Given the description of an element on the screen output the (x, y) to click on. 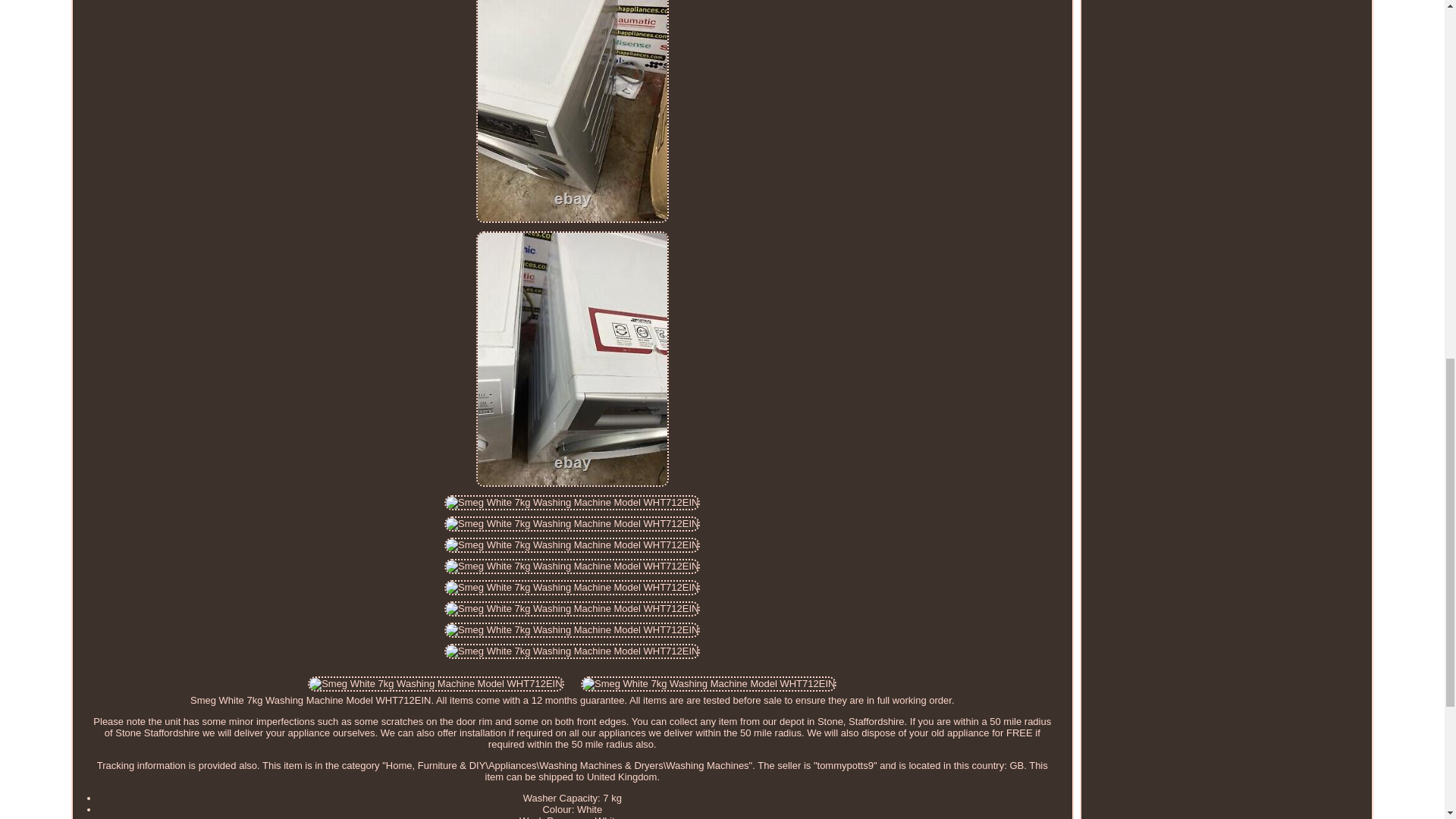
Smeg White 7kg Washing Machine Model WHT712EIN (707, 683)
Smeg White 7kg Washing Machine Model WHT712EIN (572, 566)
Smeg White 7kg Washing Machine Model WHT712EIN (572, 587)
Smeg White 7kg Washing Machine Model WHT712EIN (572, 544)
Smeg White 7kg Washing Machine Model WHT712EIN (572, 502)
Smeg White 7kg Washing Machine Model WHT712EIN (572, 630)
Smeg White 7kg Washing Machine Model WHT712EIN (435, 683)
Smeg White 7kg Washing Machine Model WHT712EIN (572, 608)
Smeg White 7kg Washing Machine Model WHT712EIN (572, 523)
Smeg White 7kg Washing Machine Model WHT712EIN (572, 651)
